Given the description of an element on the screen output the (x, y) to click on. 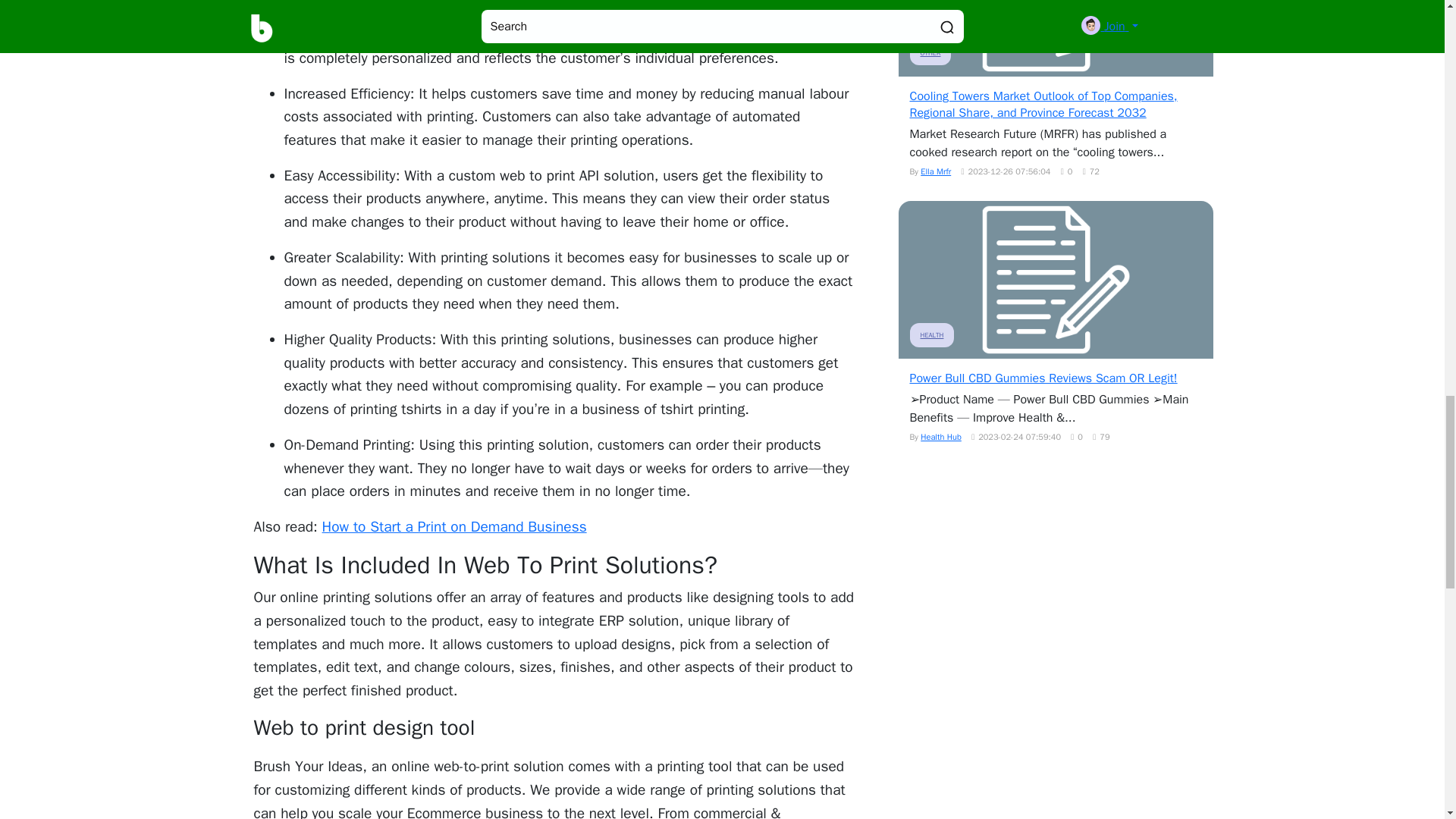
How to Start a Print on Demand Business (453, 526)
